Given the description of an element on the screen output the (x, y) to click on. 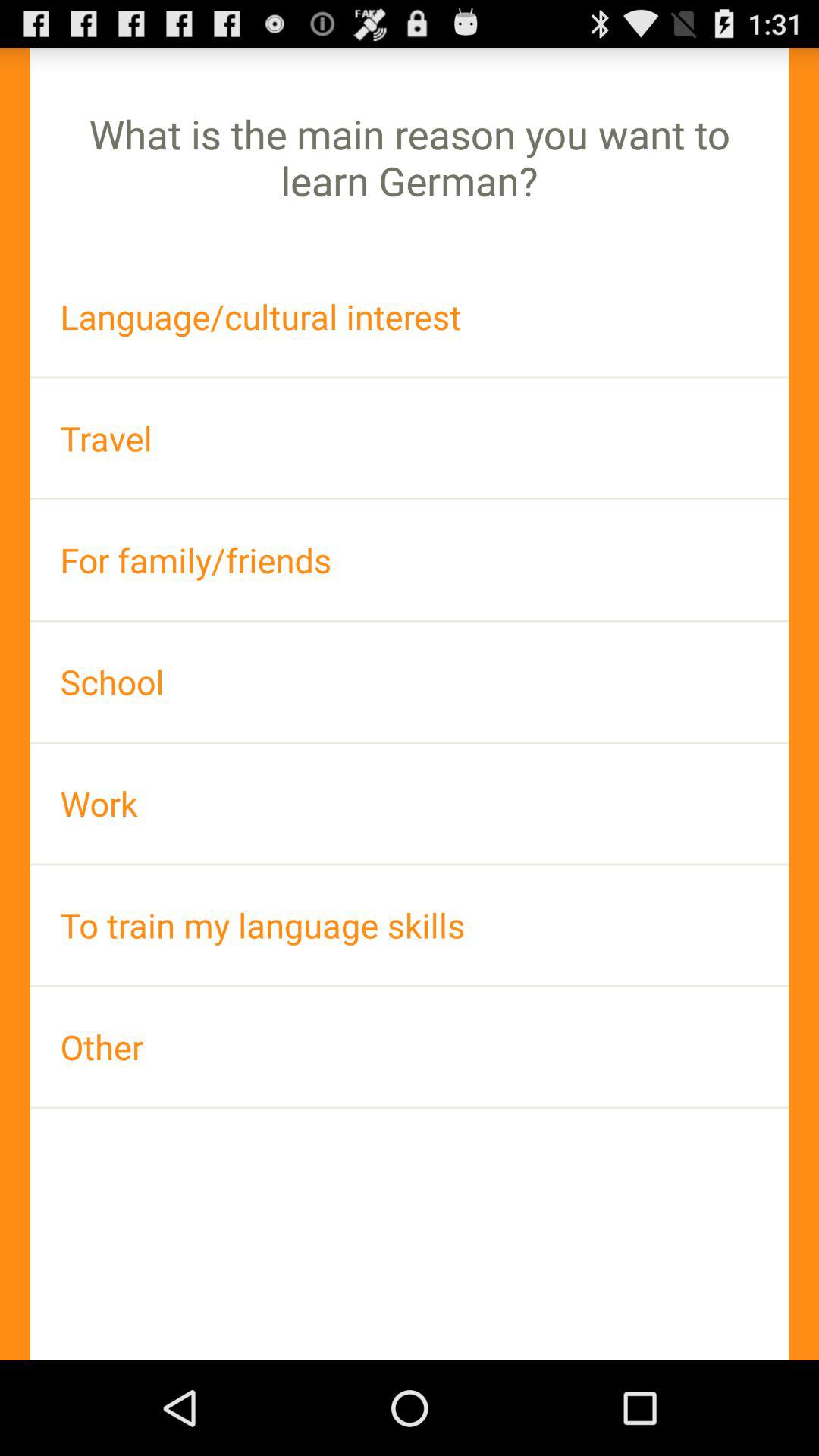
flip until for family/friends app (409, 559)
